Given the description of an element on the screen output the (x, y) to click on. 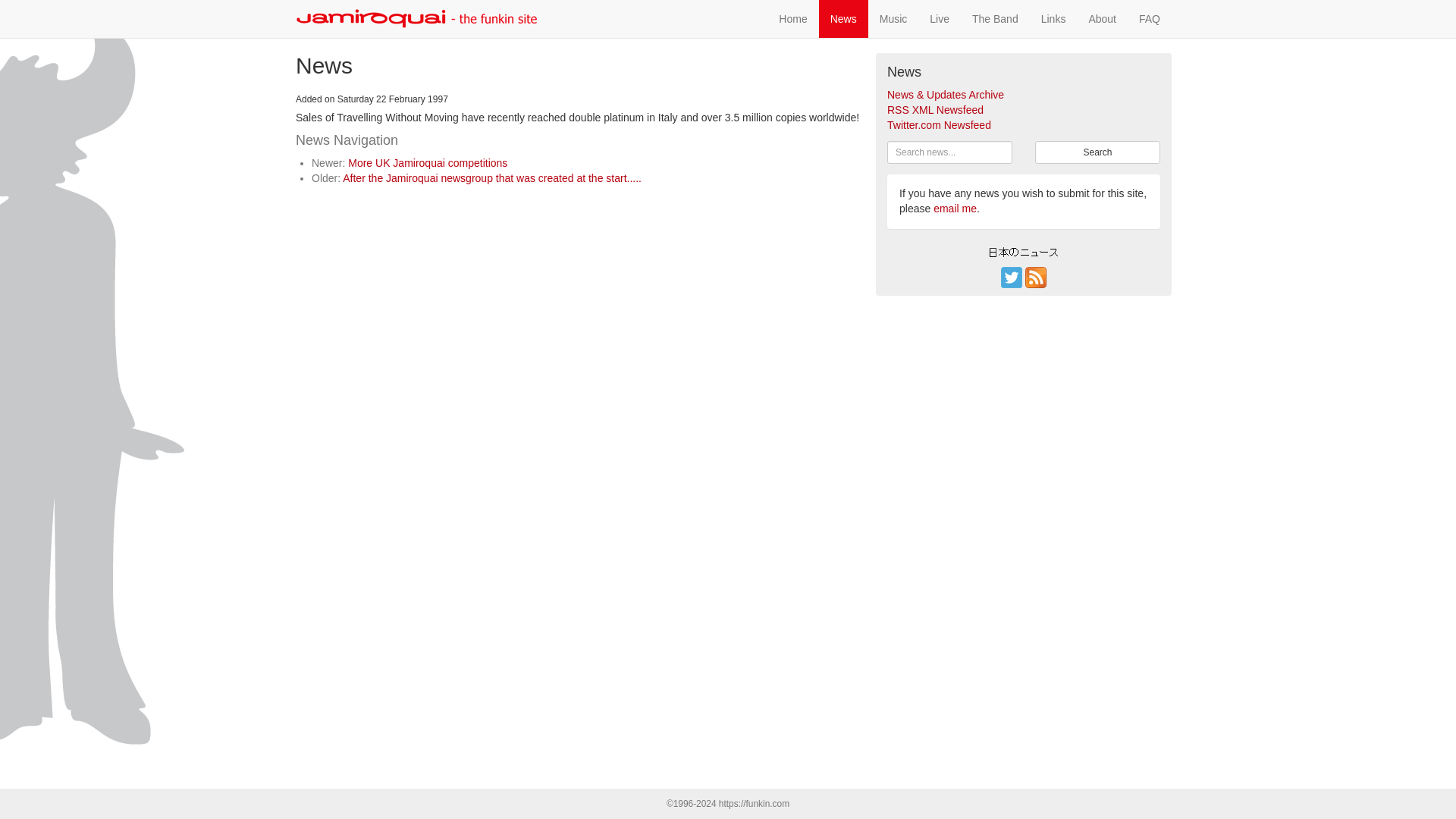
More UK Jamiroquai competitions (426, 162)
Frequently Asked Questions about Jamiroquai (1149, 18)
Home (792, 18)
Discography, videography, lyrics, and more (892, 18)
Live (939, 18)
Tour dates (939, 18)
Home (792, 18)
Links (1053, 18)
The Band (994, 18)
Music (892, 18)
